Given the description of an element on the screen output the (x, y) to click on. 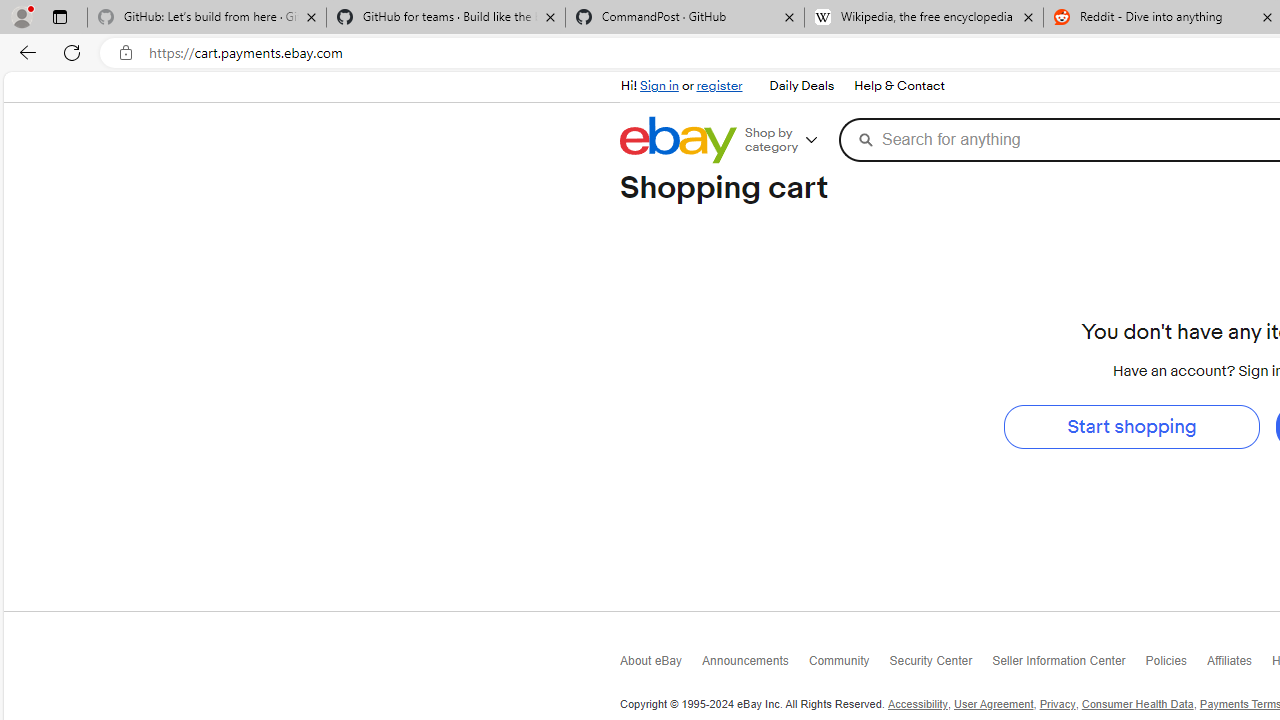
Community (848, 664)
About eBay (660, 665)
eBay Home (678, 139)
eBay Home (678, 139)
Announcements (754, 664)
Help & Contact (898, 85)
Daily Deals (800, 85)
Affiliates (1239, 665)
Start shopping (1131, 426)
Wikipedia, the free encyclopedia (924, 17)
